Given the description of an element on the screen output the (x, y) to click on. 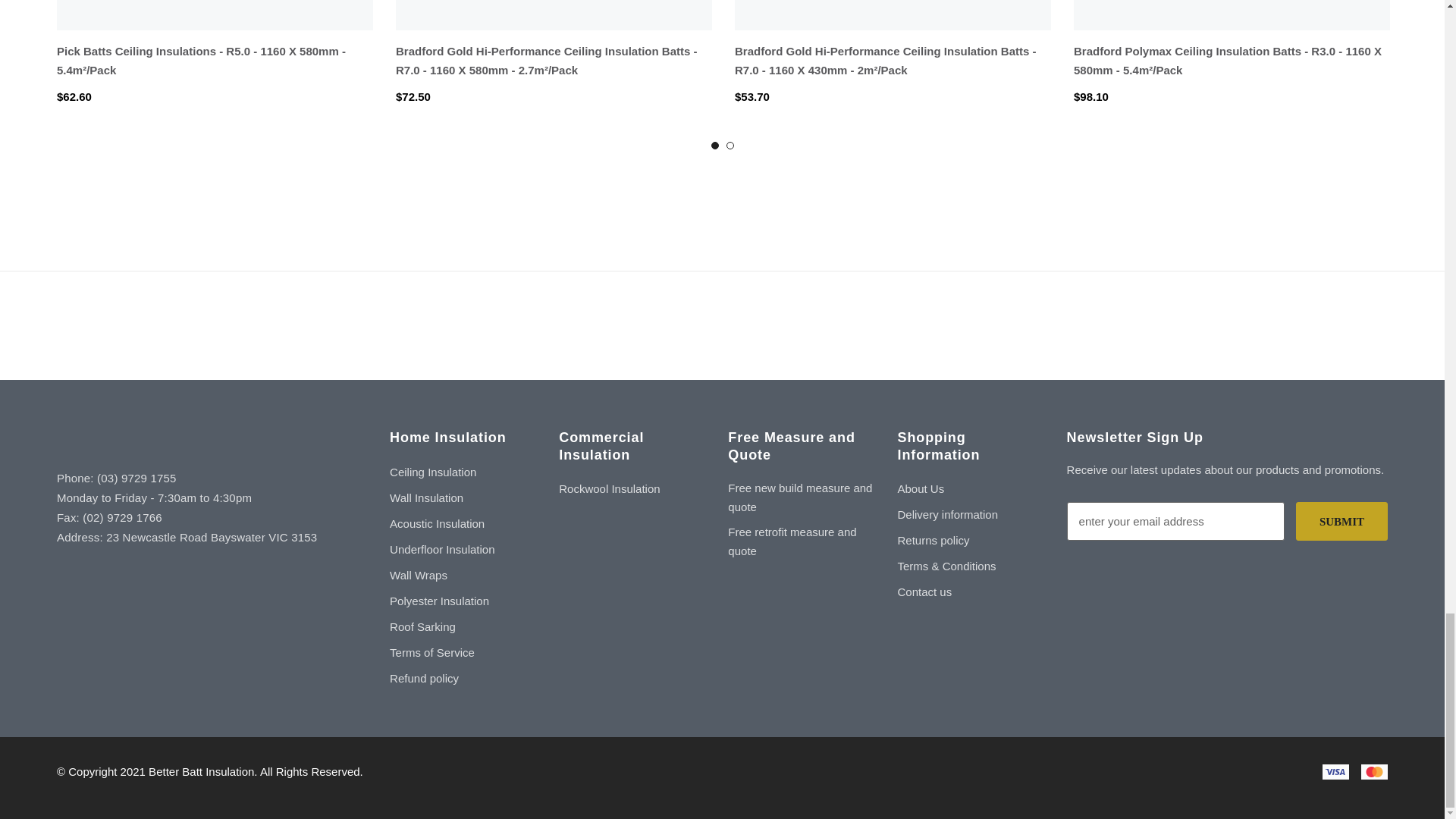
Submit (1341, 521)
